Given the description of an element on the screen output the (x, y) to click on. 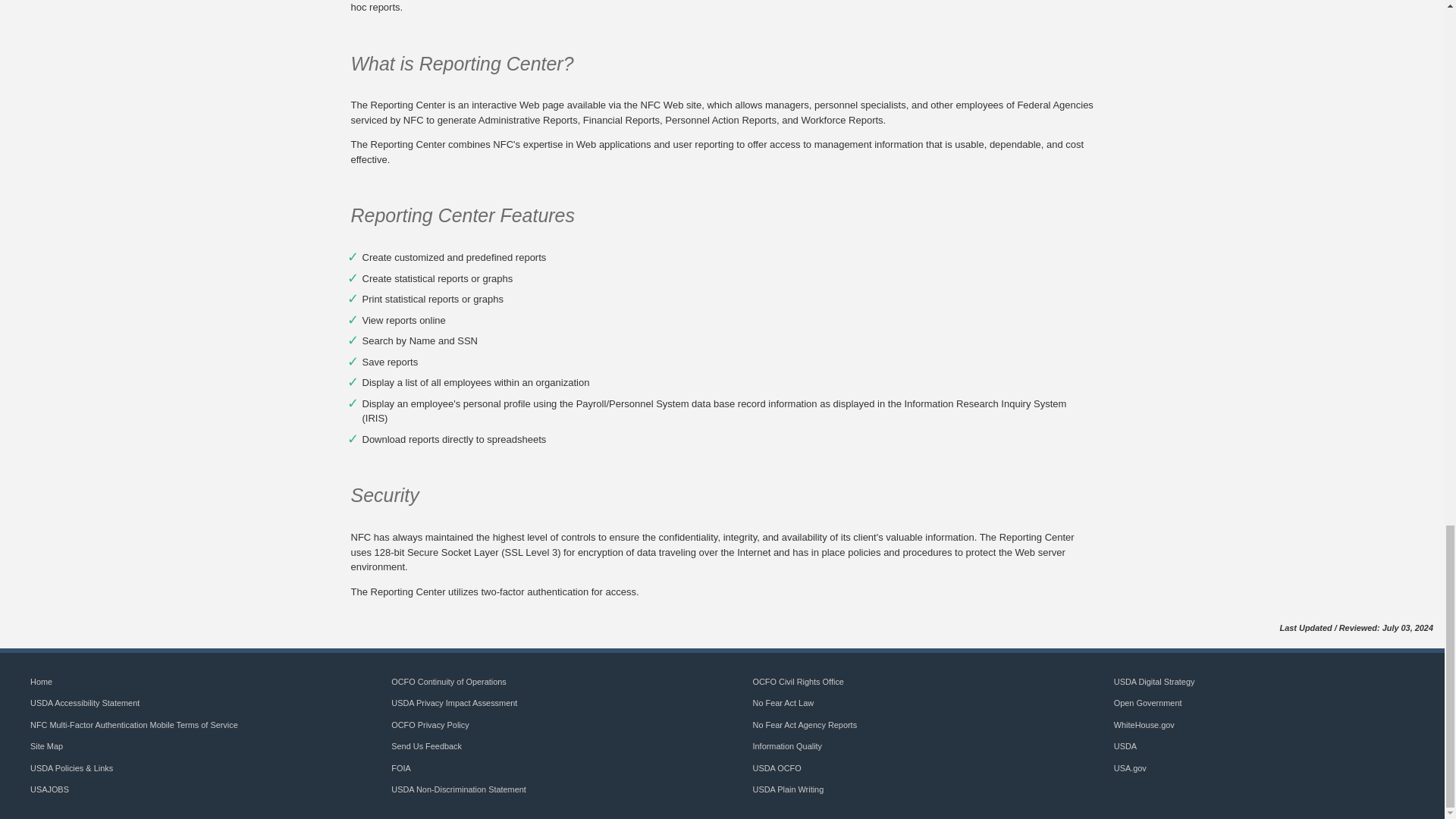
USDA Accessibility Statement (84, 702)
OCFO Continuity of Operations (448, 681)
Information Quality (787, 746)
USDA Non-Discrimination Statement (458, 788)
NFC Multi-Factor Authentication Mobile Terms of Service (134, 724)
FOIA (400, 768)
Site Map (46, 746)
WhiteHouse.gov (1143, 724)
USDA OCFO (776, 768)
USDA Privacy Impact Assessment (453, 702)
OCFO Privacy Policy (429, 724)
Send Us Feedback (426, 746)
USAJOBS (49, 788)
Home (41, 681)
USDA Plain Writing (788, 788)
